Given the description of an element on the screen output the (x, y) to click on. 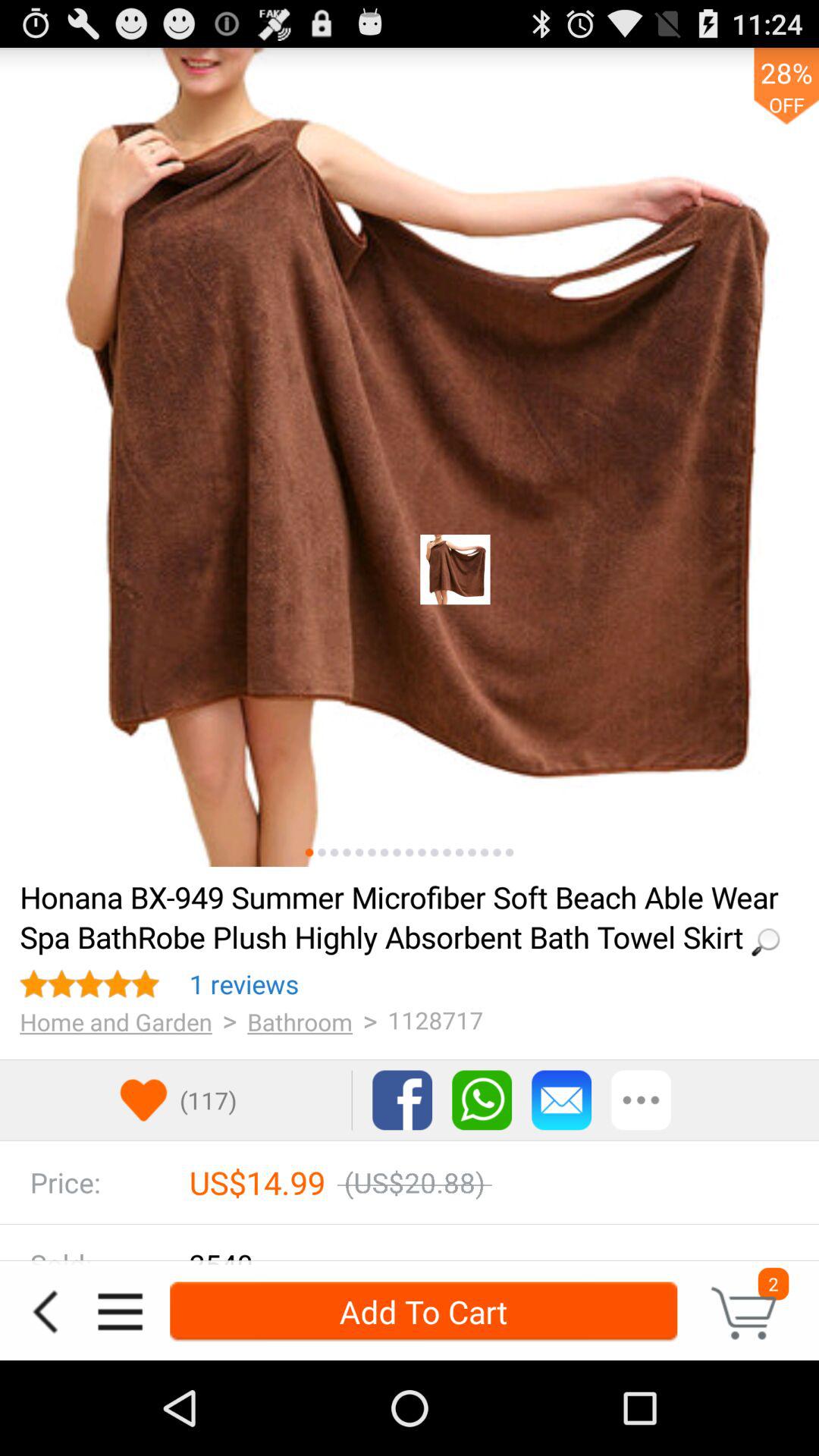
space where you view images (409, 456)
